Given the description of an element on the screen output the (x, y) to click on. 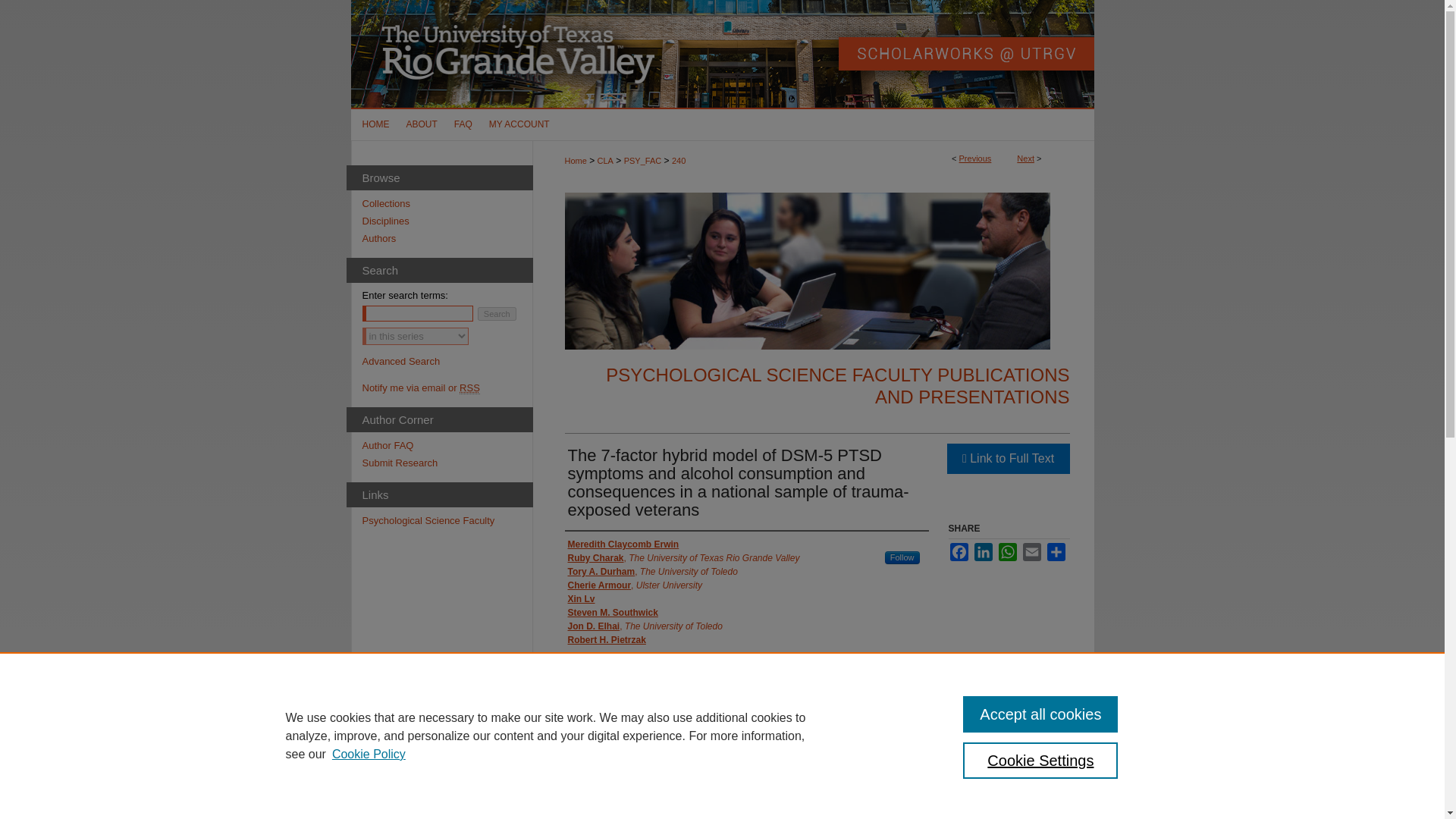
Jon D. Elhai, The University of Toledo (644, 626)
Search (496, 314)
About (421, 124)
Home (373, 124)
Robert H. Pietrzak (606, 640)
PTSD (788, 792)
Browse by Collections (447, 203)
WhatsApp (1006, 551)
My Account (518, 124)
Email (1031, 551)
FAQ (462, 124)
HOME (373, 124)
Search (496, 314)
LinkedIn (982, 551)
